Given the description of an element on the screen output the (x, y) to click on. 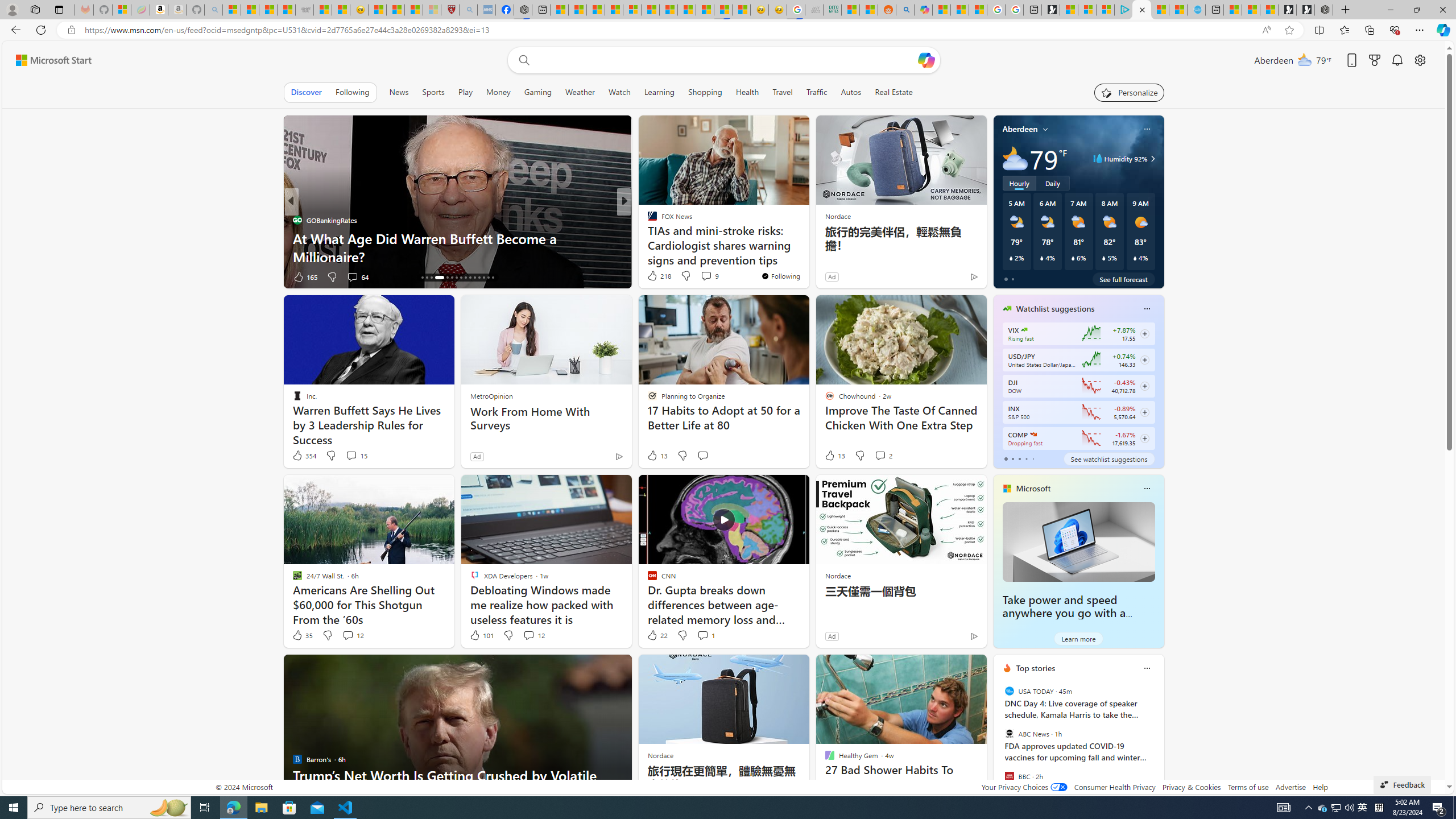
View comments 626 Comment (6, 276)
38 Like (652, 276)
Class: weather-current-precipitation-glyph (1134, 257)
Microsoft Is Bringing Recall Back to Windows 11 (807, 256)
View comments 104 Comment (709, 276)
View comments 12 Comment (533, 634)
